Given the description of an element on the screen output the (x, y) to click on. 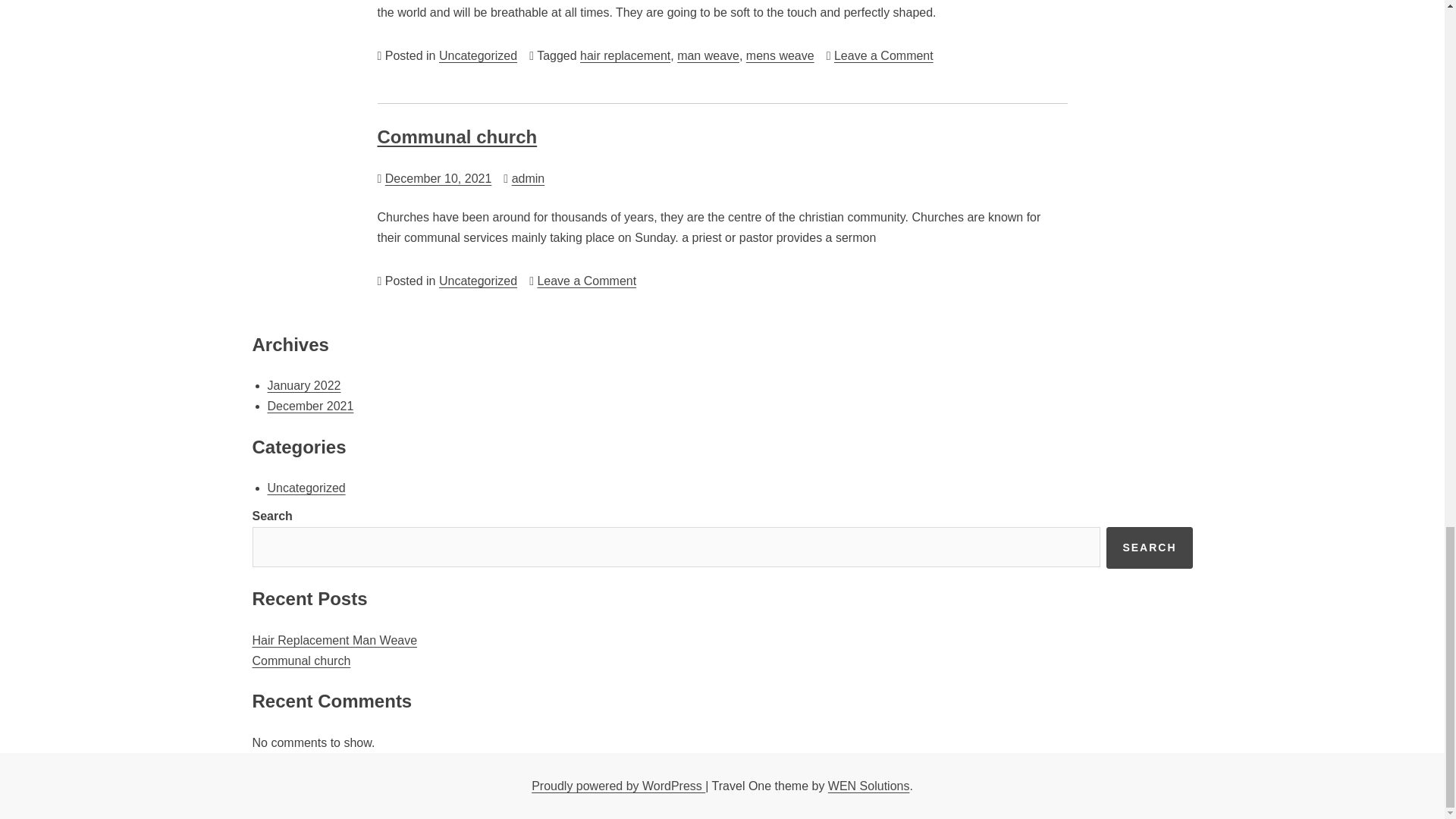
Proudly powered by WordPress (617, 785)
January 2022 (303, 385)
Communal church (457, 136)
admin (528, 178)
WEN Solutions (869, 785)
Communal church (300, 660)
hair replacement (624, 55)
December 10, 2021 (438, 178)
Uncategorized (477, 280)
Hair Replacement Man Weave (333, 640)
man weave (708, 55)
December 2021 (309, 405)
Uncategorized (586, 280)
Uncategorized (477, 55)
